Given the description of an element on the screen output the (x, y) to click on. 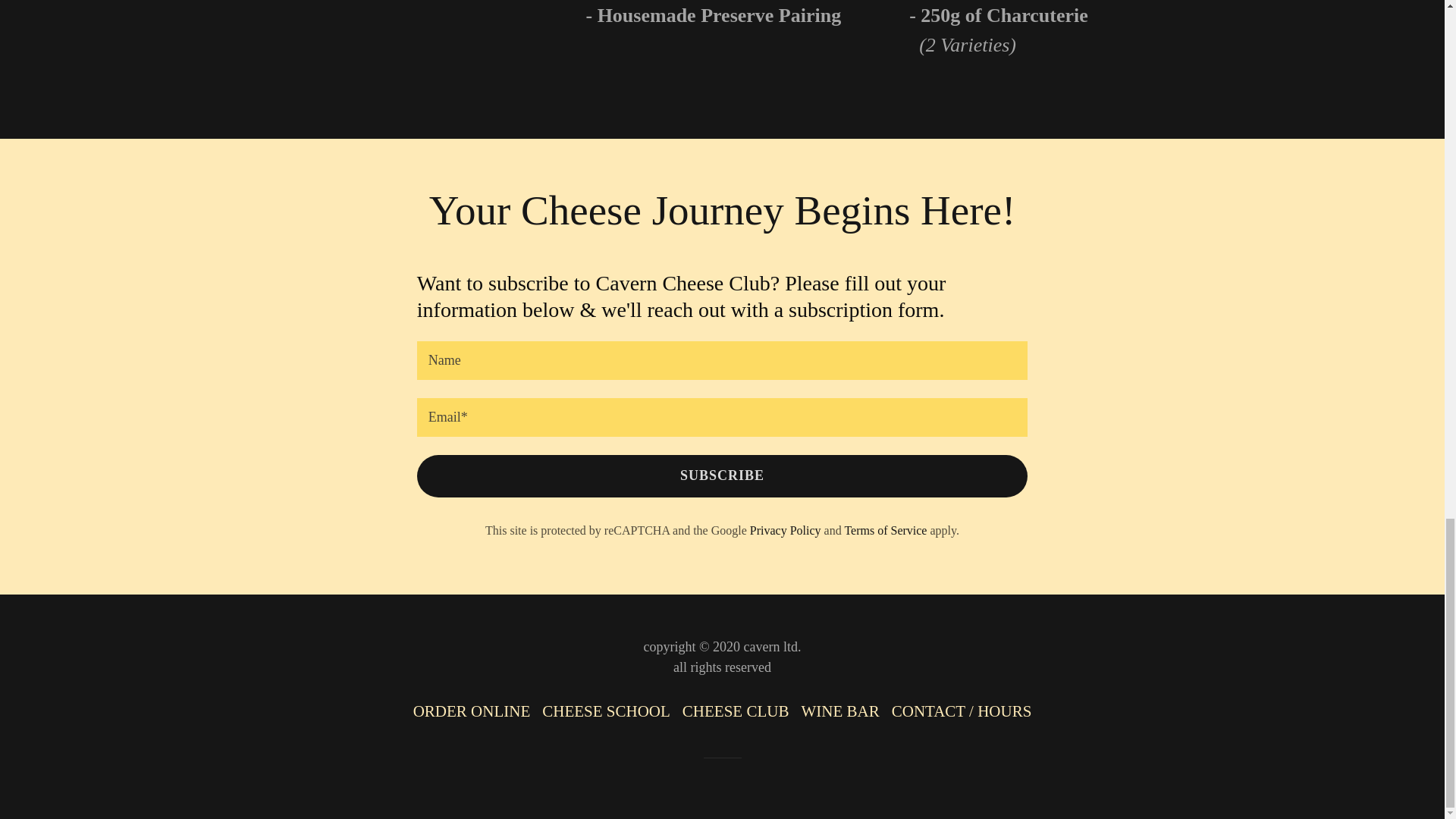
CHEESE SCHOOL (606, 711)
Privacy Policy (785, 530)
WINE BAR (839, 711)
SUBSCRIBE (721, 476)
CHEESE CLUB (735, 711)
Terms of Service (885, 530)
ORDER ONLINE (472, 711)
